Given the description of an element on the screen output the (x, y) to click on. 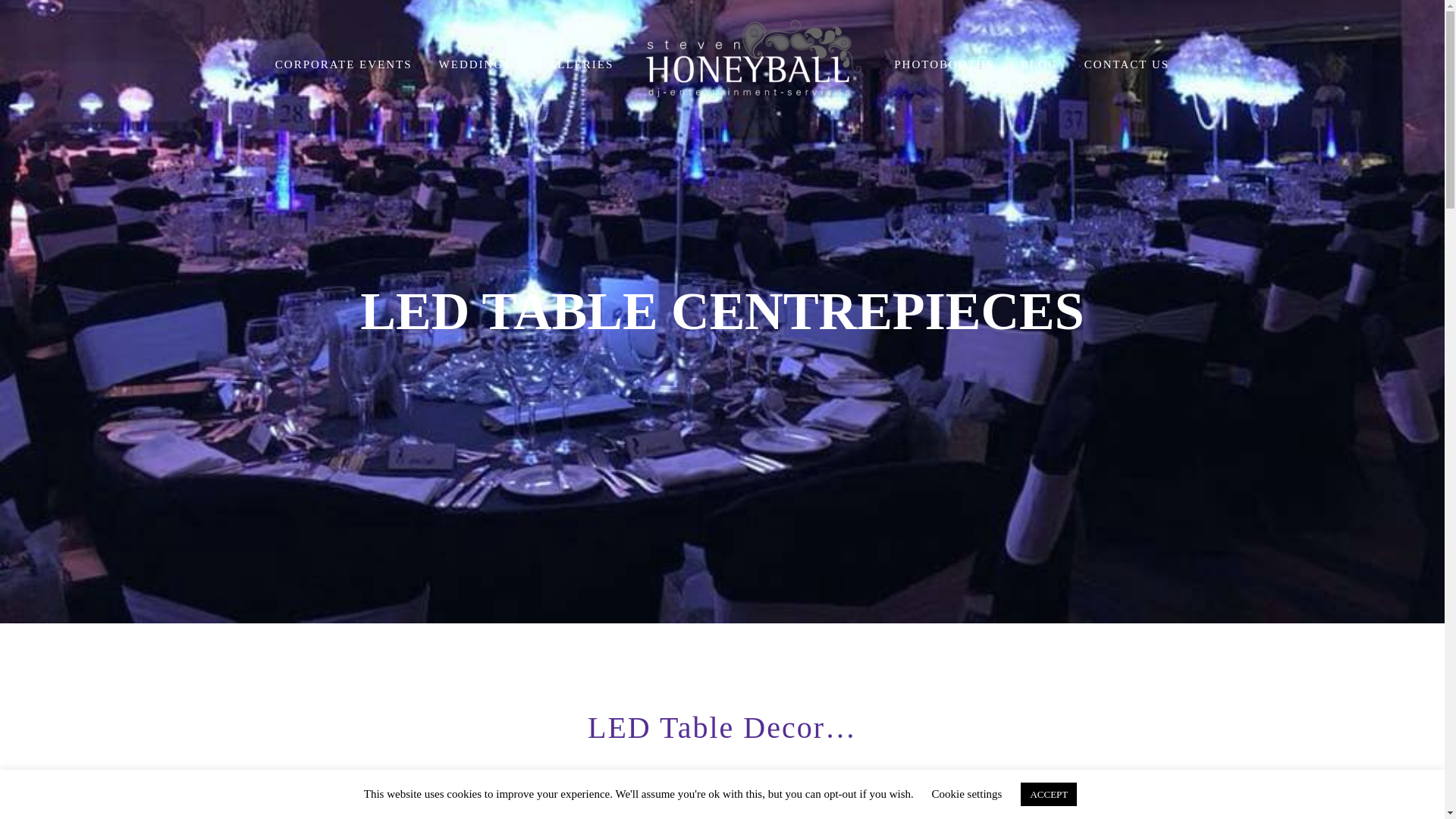
CORPORATE EVENTS (343, 65)
GALLERIES (576, 65)
BLOG (1039, 65)
PHOTOBOOTHS (943, 65)
CONTACT US (1126, 65)
WEDDINGS (475, 65)
